Given the description of an element on the screen output the (x, y) to click on. 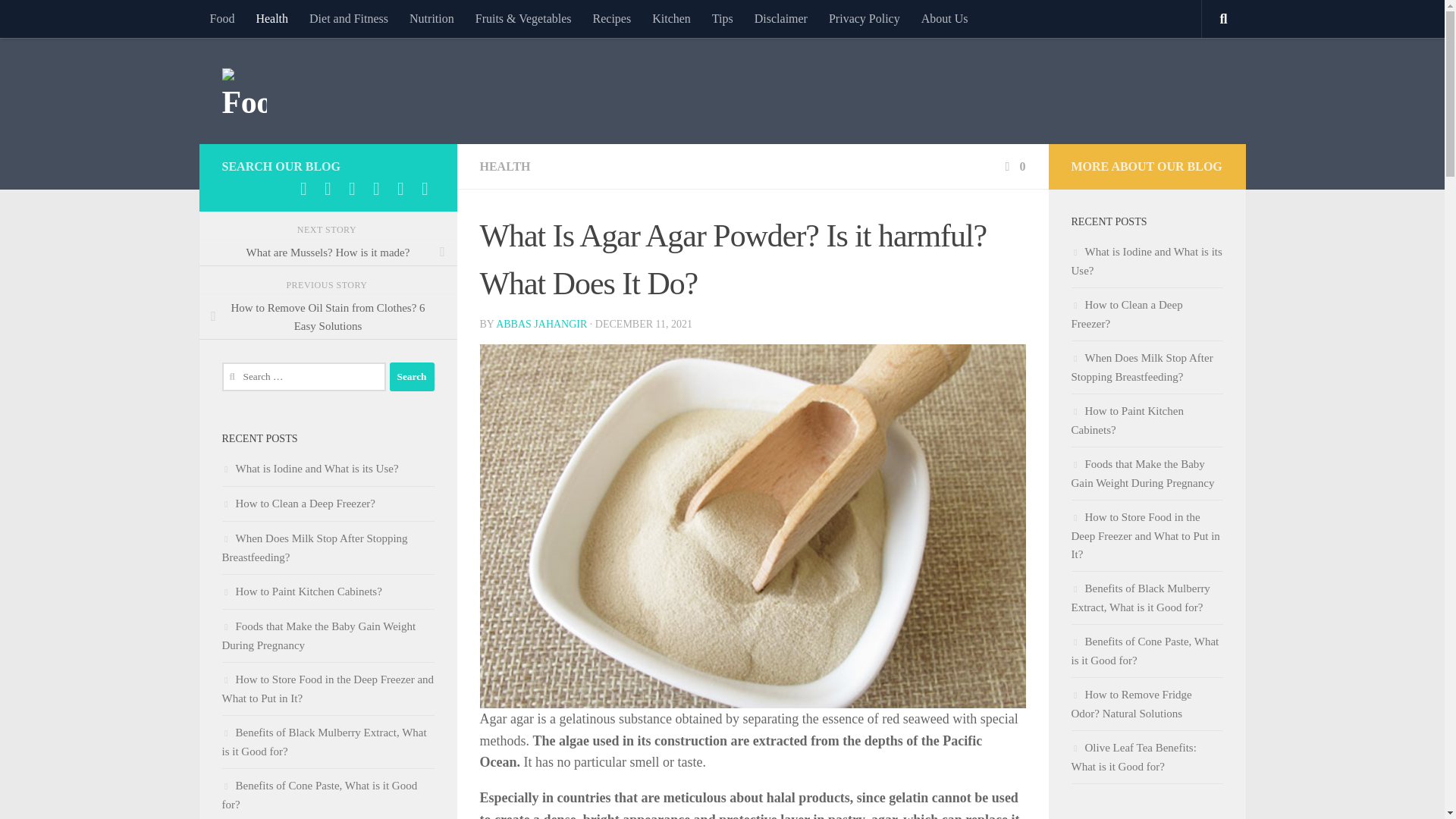
Diet and Fitness (348, 18)
Follow us on Linkedin (327, 188)
HEALTH (504, 165)
Tips (722, 18)
Recipes (612, 18)
ABBAS JAHANGIR (541, 324)
Food (221, 18)
Search (411, 376)
Search (411, 376)
Health (271, 18)
